Given the description of an element on the screen output the (x, y) to click on. 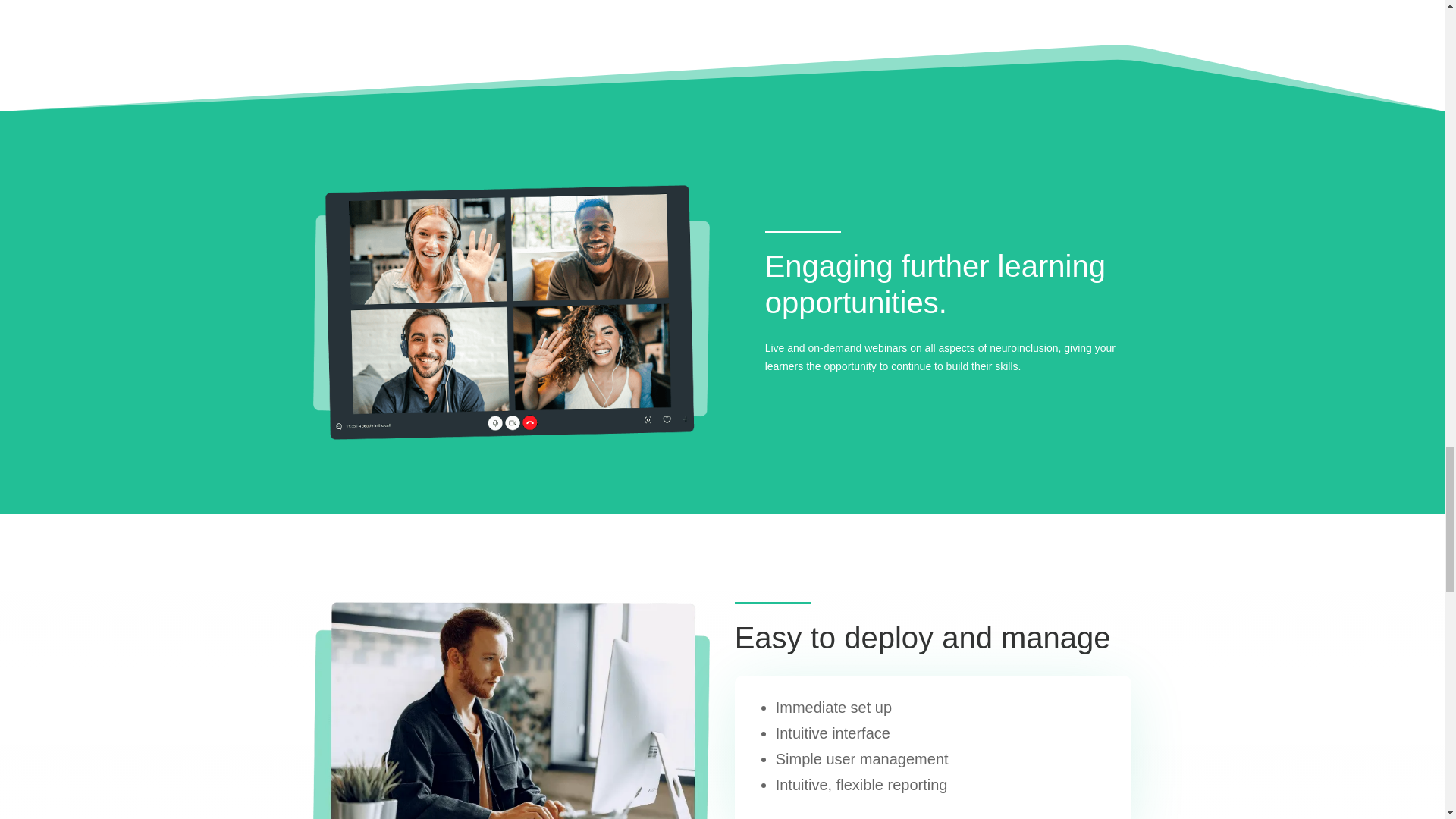
Easy to Deploy Manage (511, 710)
Engage Further Learning (511, 312)
